Given the description of an element on the screen output the (x, y) to click on. 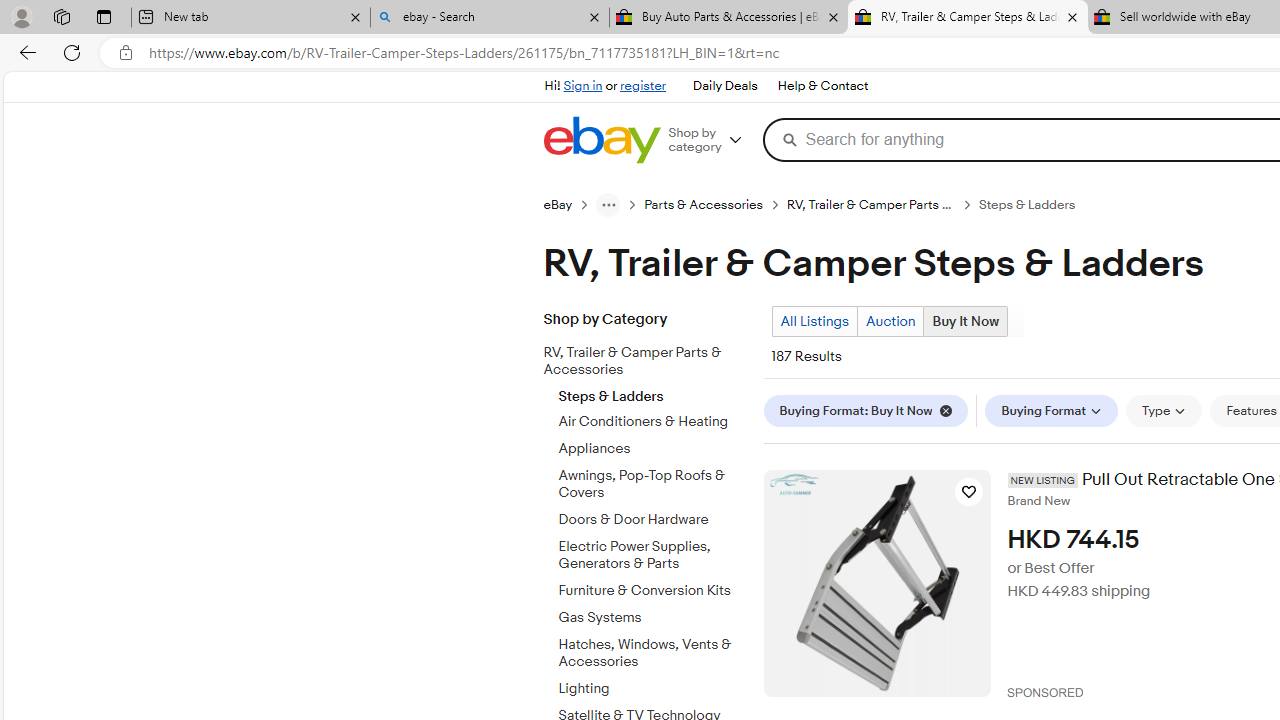
Buy Auto Parts & Accessories | eBay (729, 17)
Furniture & Conversion Kits (653, 587)
Electric Power Supplies, Generators & Parts (653, 551)
Appliances (653, 449)
Buying Format: Buy It Now - Remove Filter (865, 410)
Air Conditioners & Heating (653, 422)
Doors & Door Hardware (653, 516)
eBay Home (601, 139)
Type (1164, 410)
Air Conditioners & Heating (653, 418)
